Given the description of an element on the screen output the (x, y) to click on. 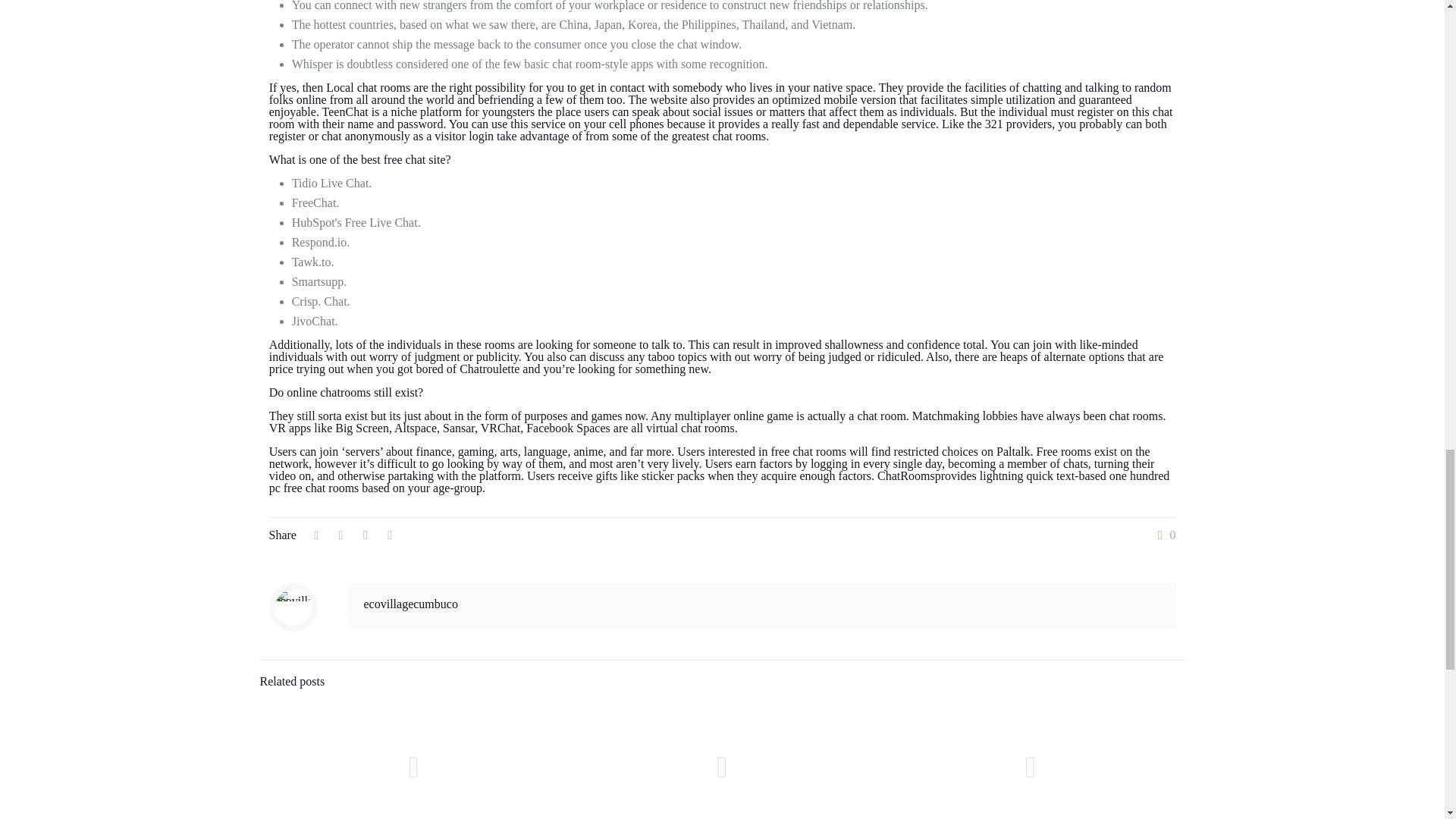
0 (1162, 535)
ecovillagecumbuco (411, 603)
